Given the description of an element on the screen output the (x, y) to click on. 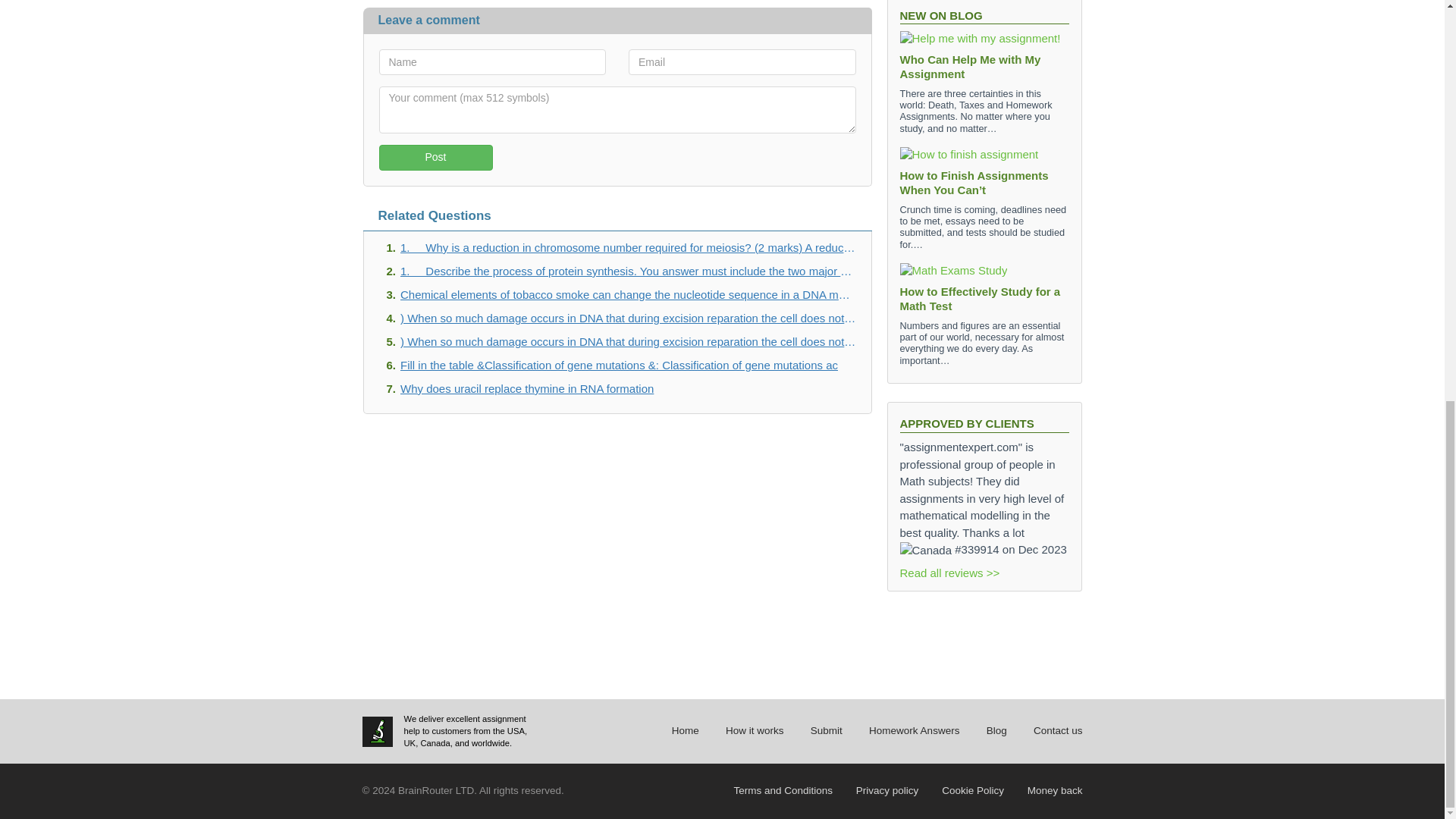
Why does uracil replace thymine in RNA formation (628, 389)
Post (435, 157)
Money Back Guarantee (1055, 790)
Canada (925, 549)
